Given the description of an element on the screen output the (x, y) to click on. 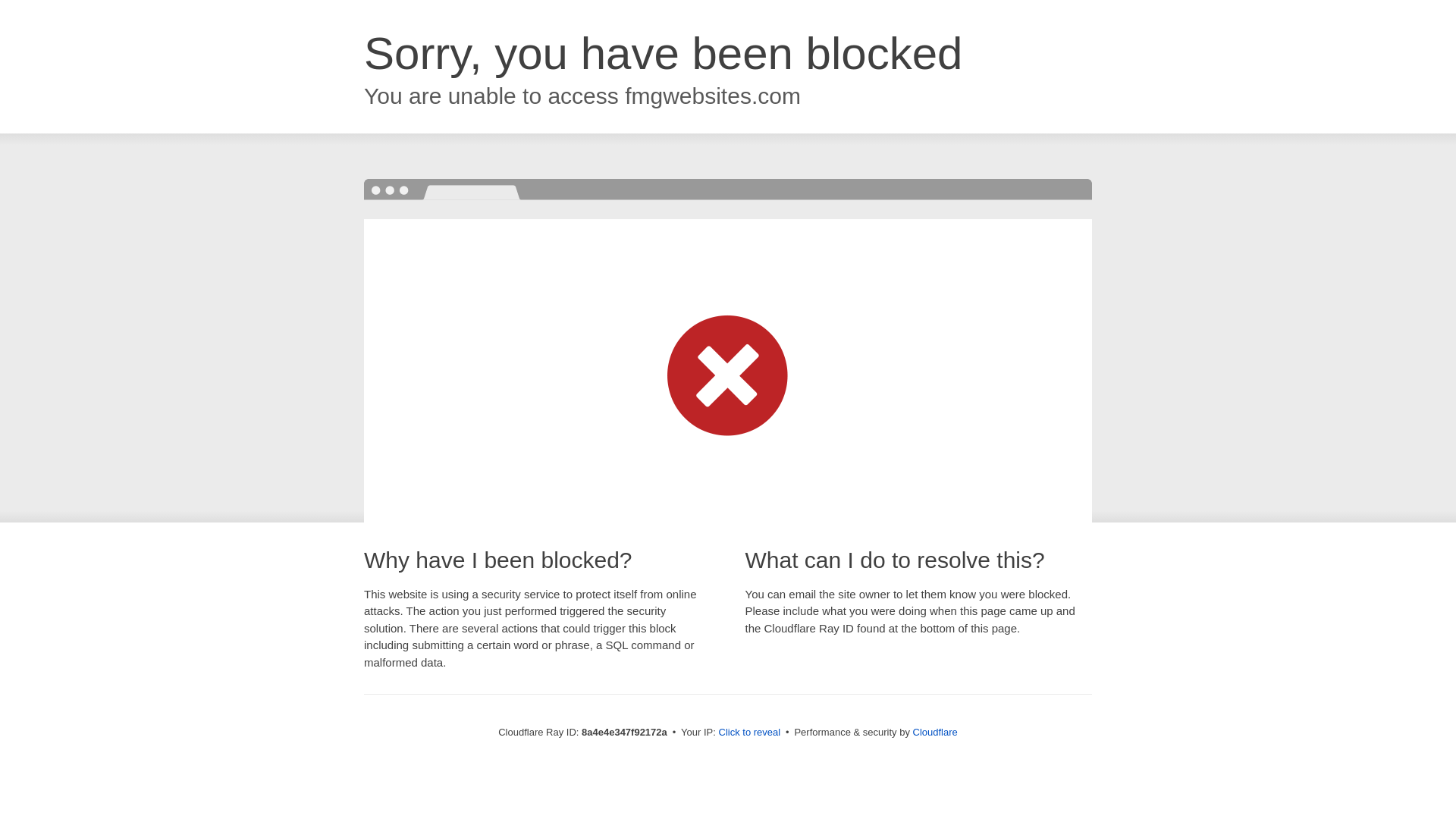
Click to reveal (749, 732)
Cloudflare (935, 731)
